Given the description of an element on the screen output the (x, y) to click on. 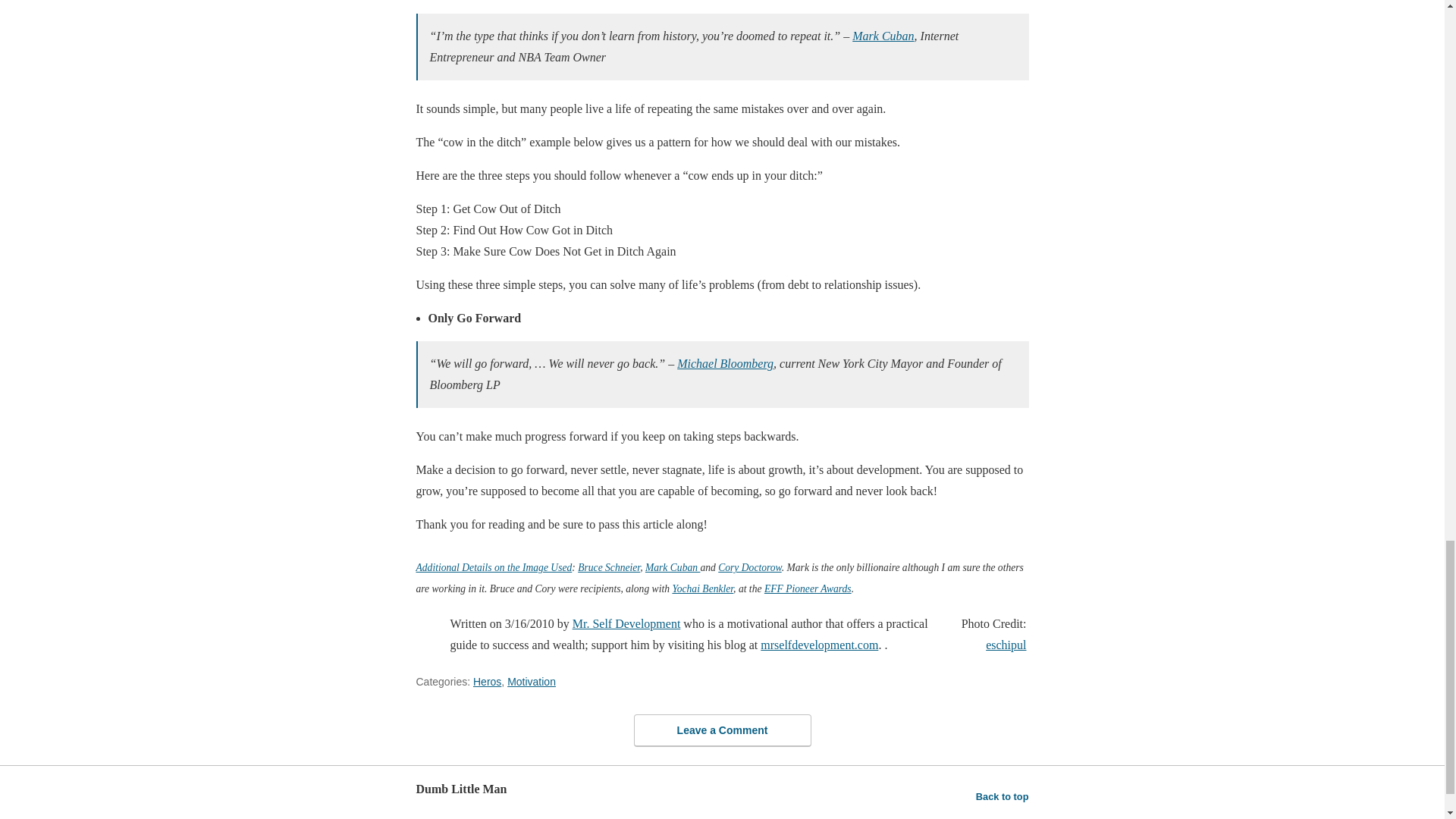
mrselfdevelopment.com (818, 644)
Mark Cuban (882, 35)
Additional Details on the Image Used (493, 567)
EFF Pioneer Awards (807, 588)
Back to top (1002, 796)
Mr. Self Development (626, 623)
Cory Doctorow (748, 567)
this article was written for Dumblittleman.com (432, 641)
Yochai Benkler (702, 588)
Bruce Schneier (609, 567)
